Given the description of an element on the screen output the (x, y) to click on. 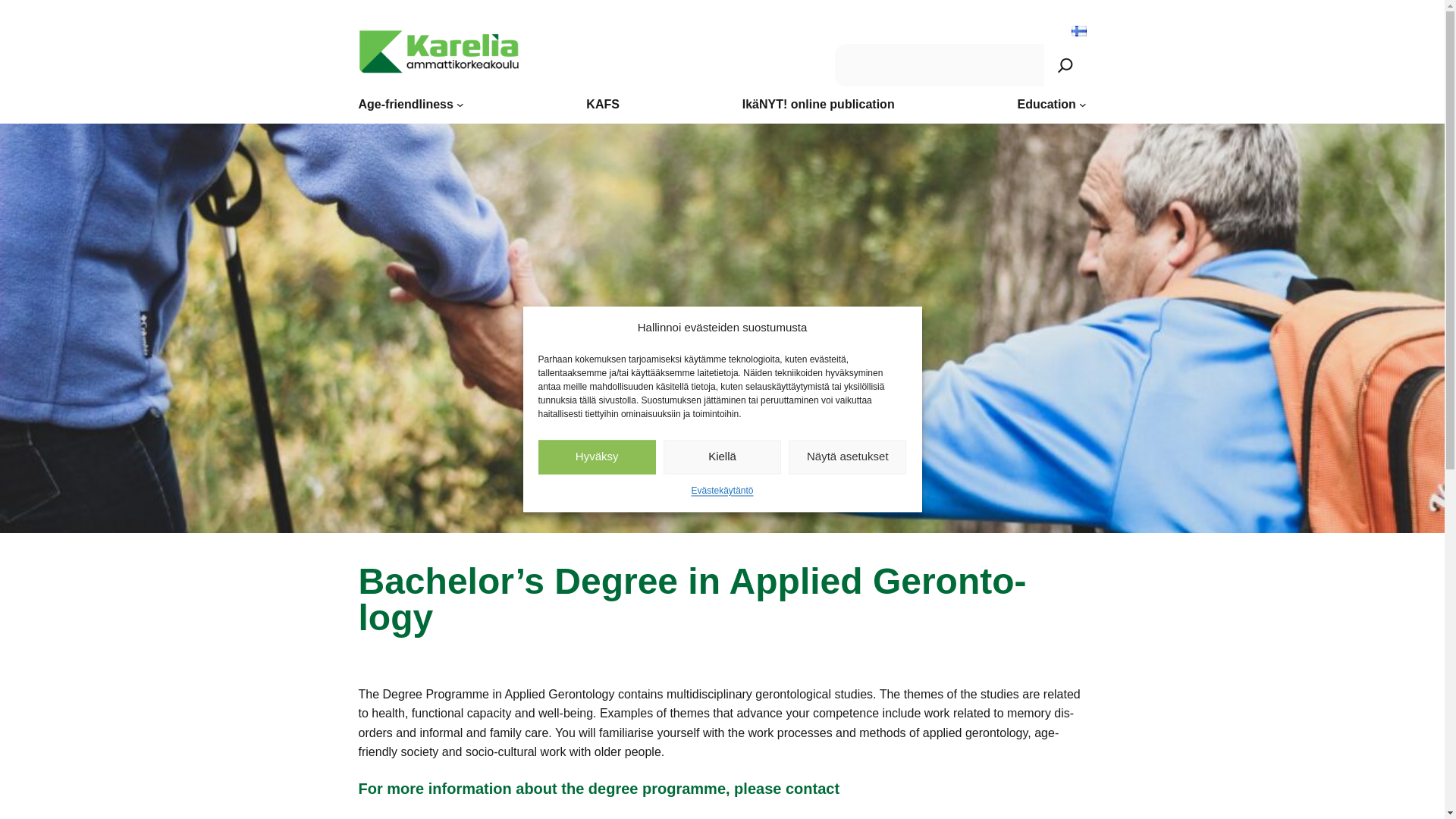
KAFS (603, 104)
